Given the description of an element on the screen output the (x, y) to click on. 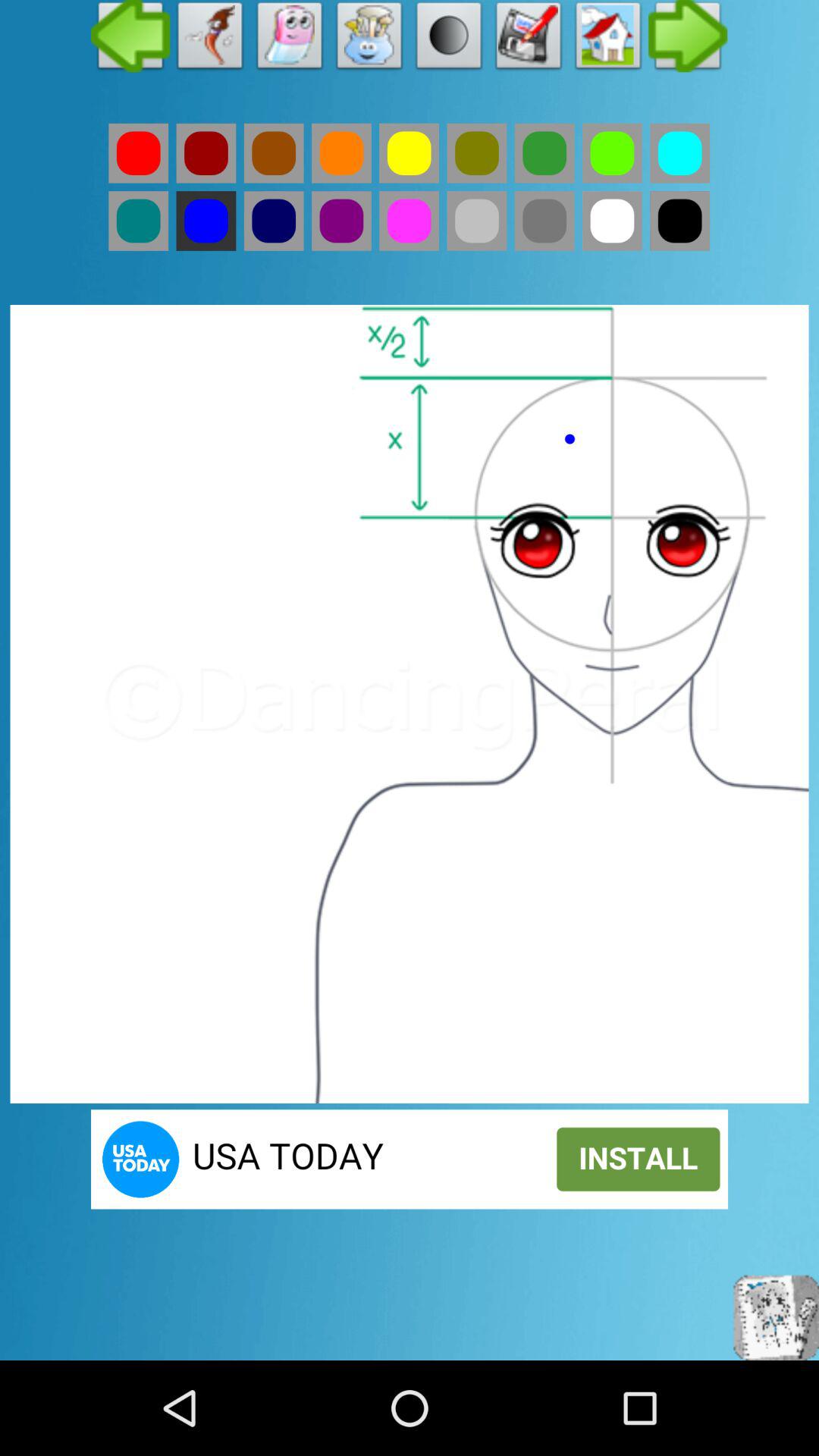
for the adversiment (409, 1159)
